Given the description of an element on the screen output the (x, y) to click on. 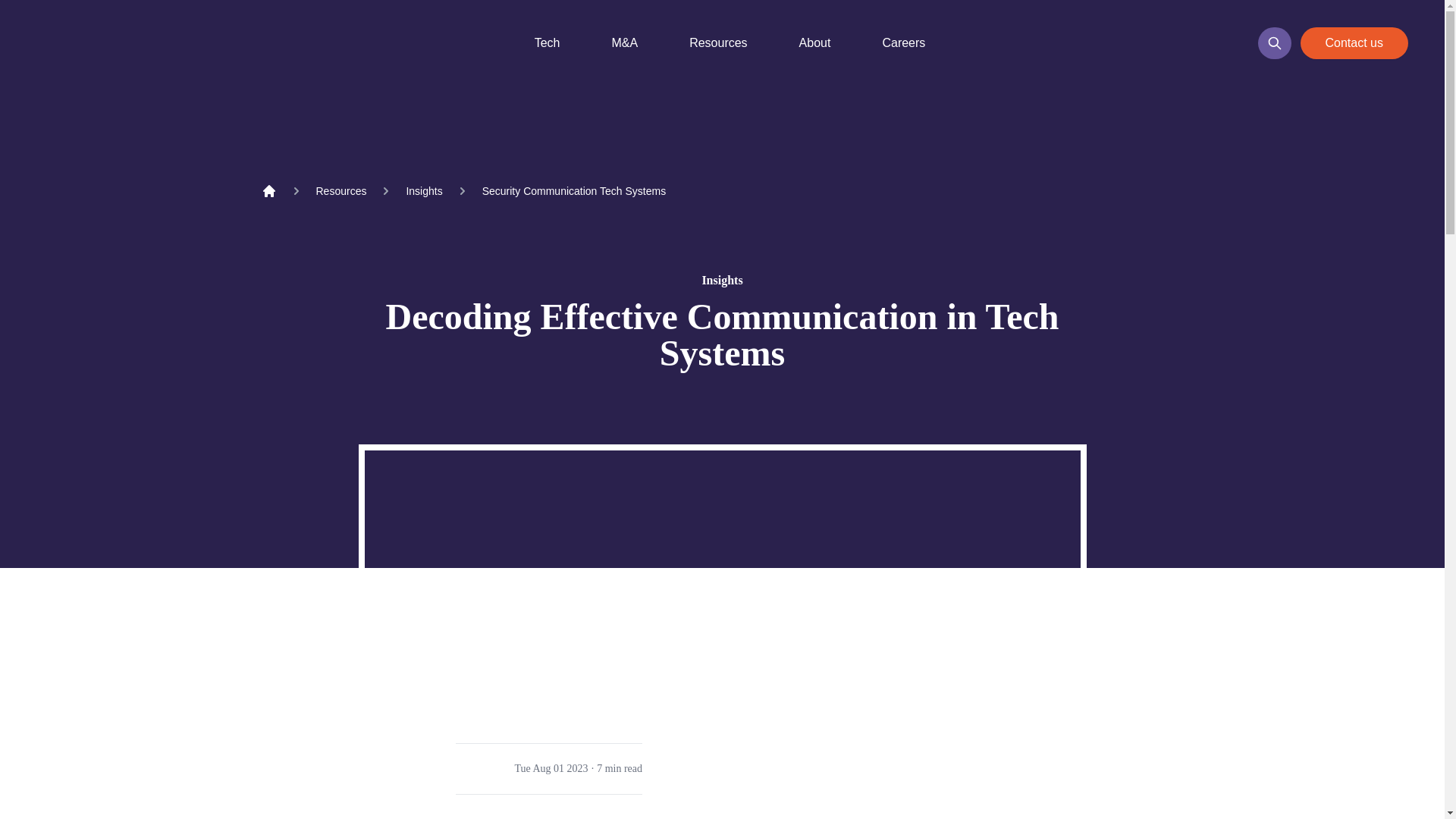
Resources (710, 43)
About (807, 43)
author name (479, 768)
CTO labs (92, 43)
Resources (340, 191)
Home (268, 191)
Careers (895, 43)
Security Communication Tech Systems (573, 191)
Contact us (1353, 42)
Tech (539, 43)
Insights (424, 191)
Careers (903, 43)
